Given the description of an element on the screen output the (x, y) to click on. 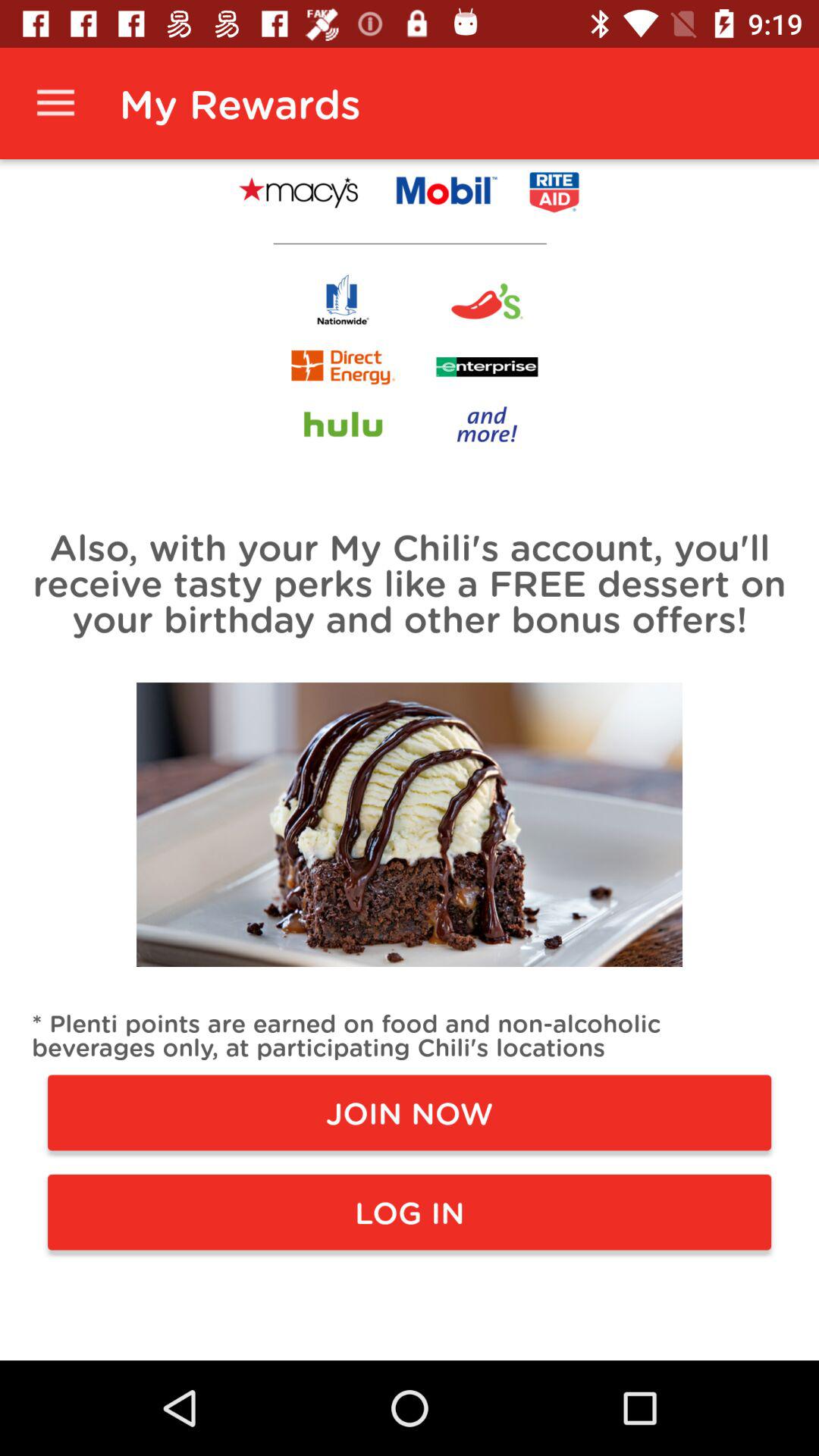
turn on item below plenti points are (409, 1112)
